Given the description of an element on the screen output the (x, y) to click on. 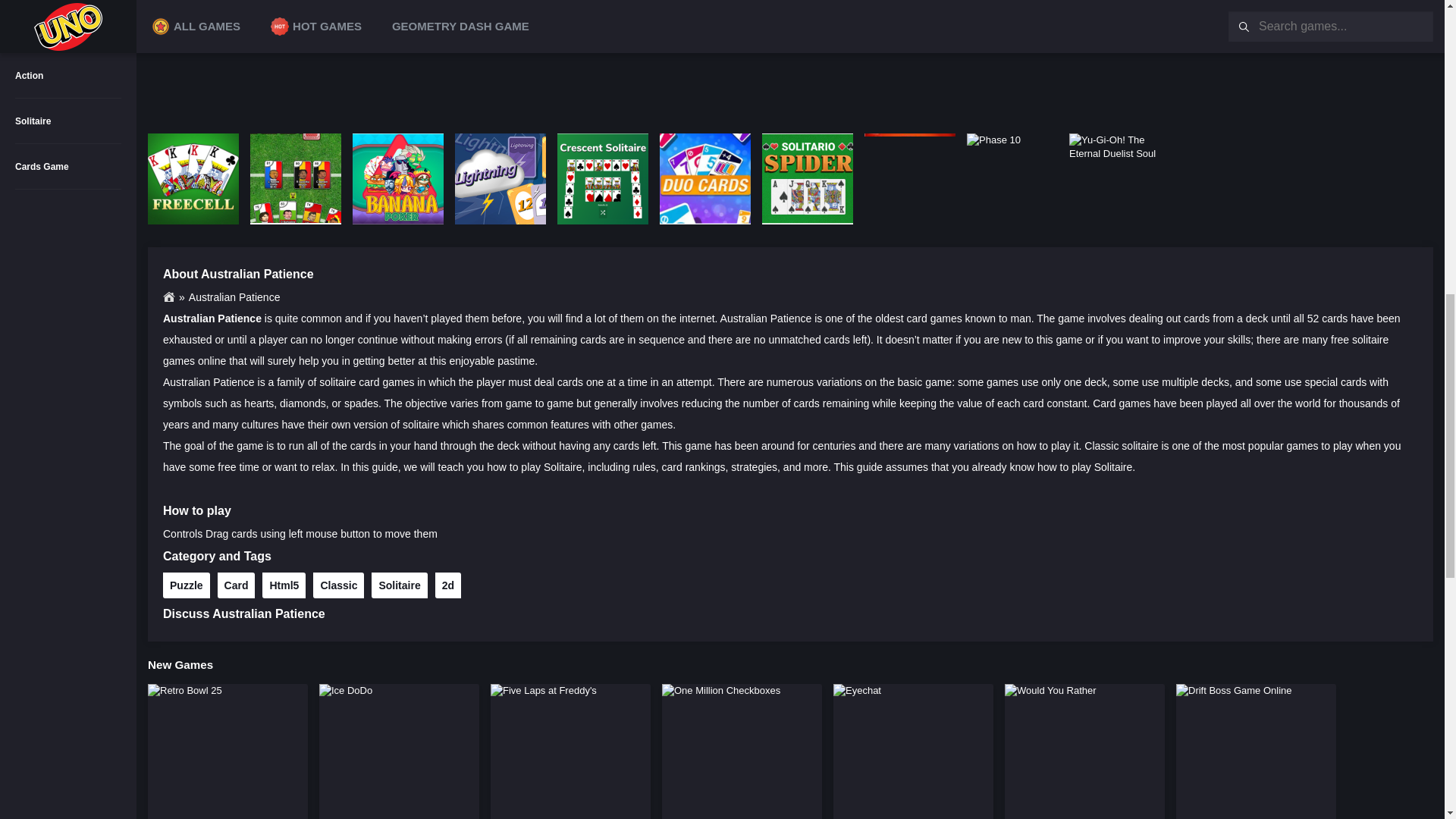
Phase 10 (993, 140)
4 Color Cards (909, 178)
Classic (338, 585)
Puzzle (186, 585)
Solitario Spider (807, 178)
Banana Poker (398, 178)
DUO Cards (705, 178)
Crescent Solitaire (602, 178)
Retro Bowl 25 (185, 690)
2d (448, 585)
